Given the description of an element on the screen output the (x, y) to click on. 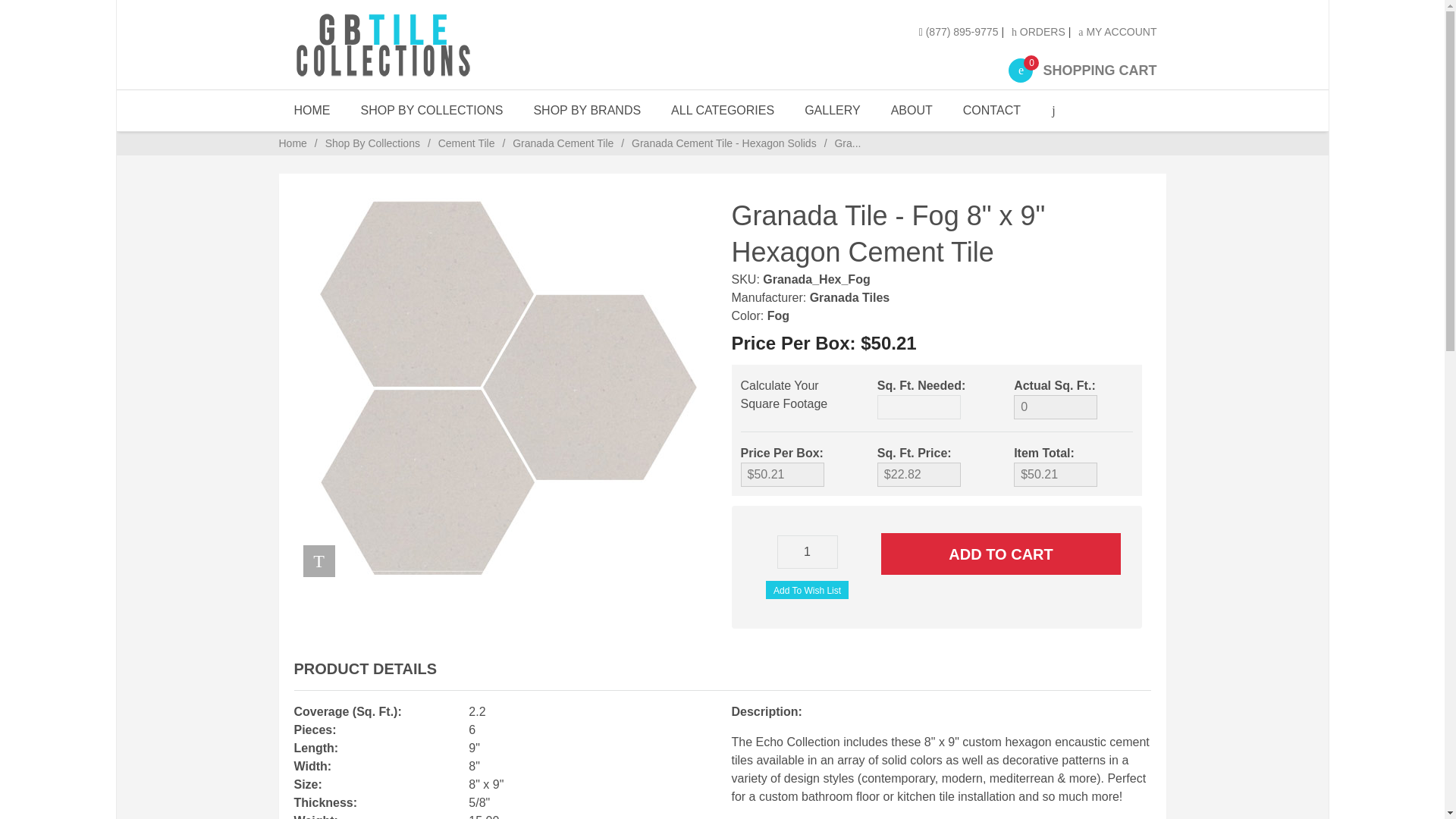
HOME (312, 110)
GBTile Collections (427, 44)
MY ACCOUNT (1082, 69)
SHOP BY COLLECTIONS (1117, 31)
Add To Wish List (432, 110)
1 (806, 589)
Add to Cart (807, 551)
0 (1000, 553)
Shop By Collections (1055, 406)
ORDERS (432, 110)
